Given the description of an element on the screen output the (x, y) to click on. 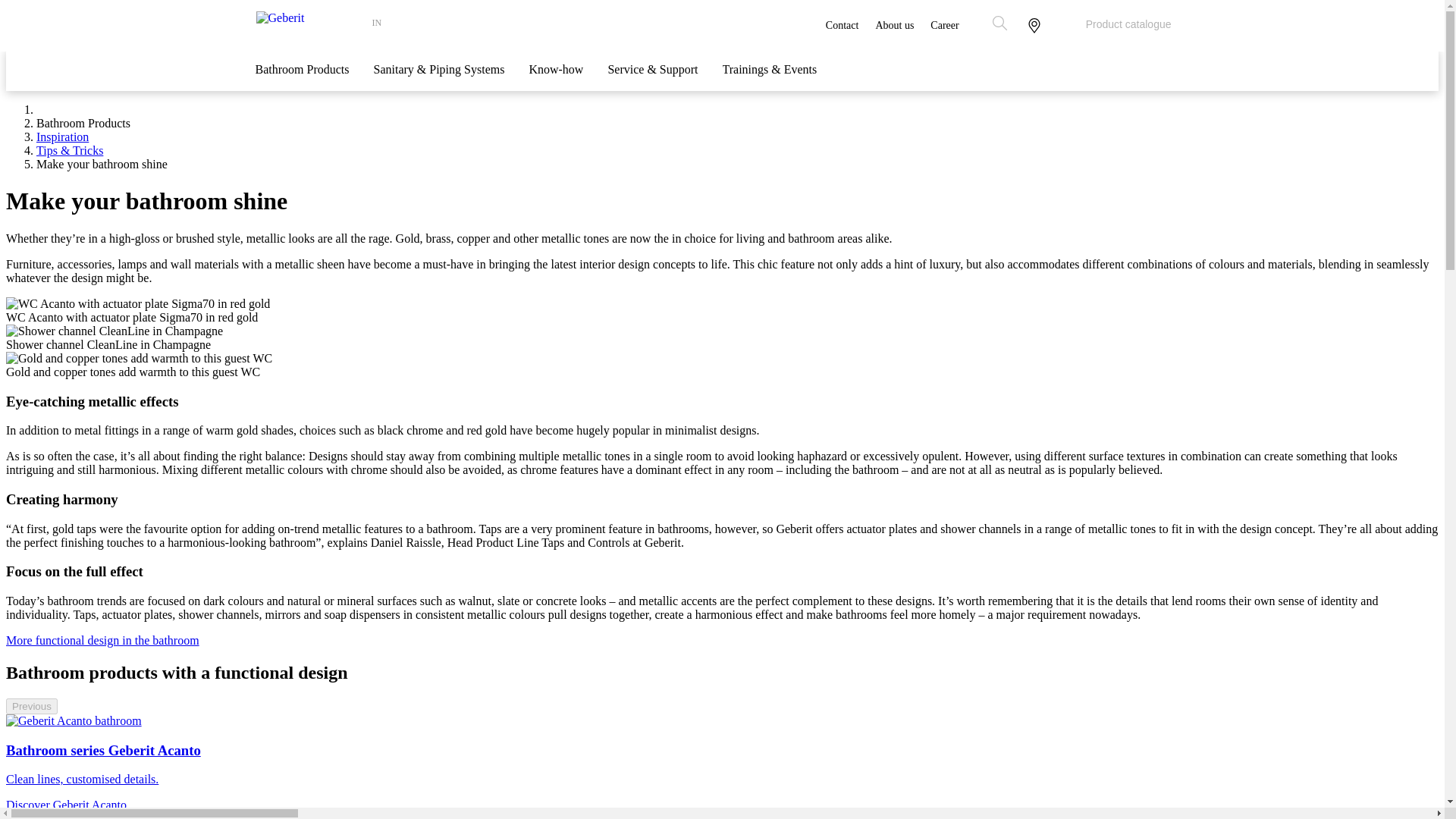
Career (944, 25)
Previous (31, 706)
Geberit (311, 26)
Geberit iCon bathroom series (83, 815)
Geberit Acanto bathroom (73, 721)
Inspiration (62, 136)
Gold and copper tones add warmth to this guest WC (138, 358)
Bathroom Products (301, 77)
